Given the description of an element on the screen output the (x, y) to click on. 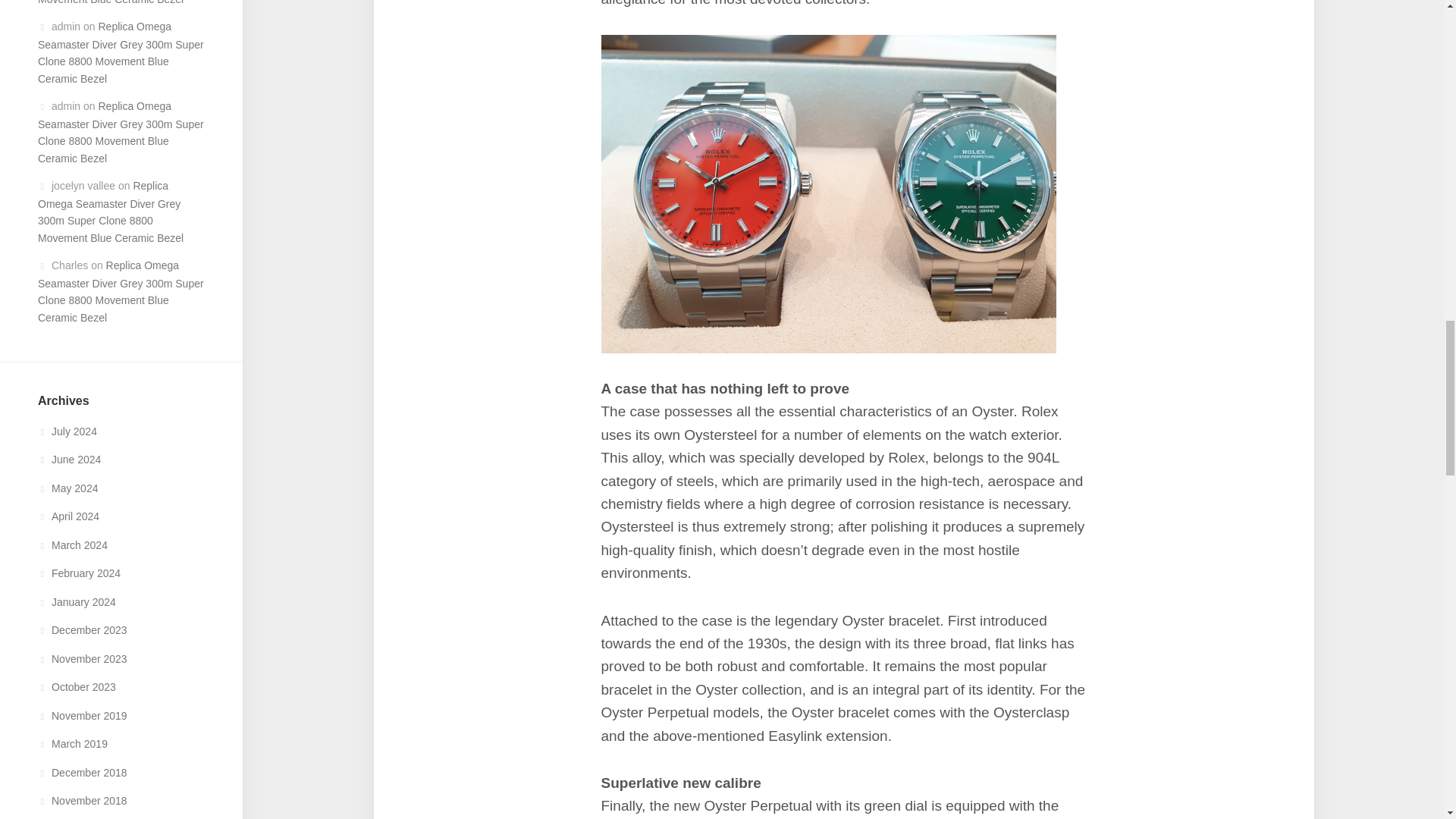
February 2024 (78, 573)
October 2023 (76, 686)
July 2024 (67, 431)
April 2024 (68, 516)
March 2024 (72, 544)
November 2023 (82, 658)
